Given the description of an element on the screen output the (x, y) to click on. 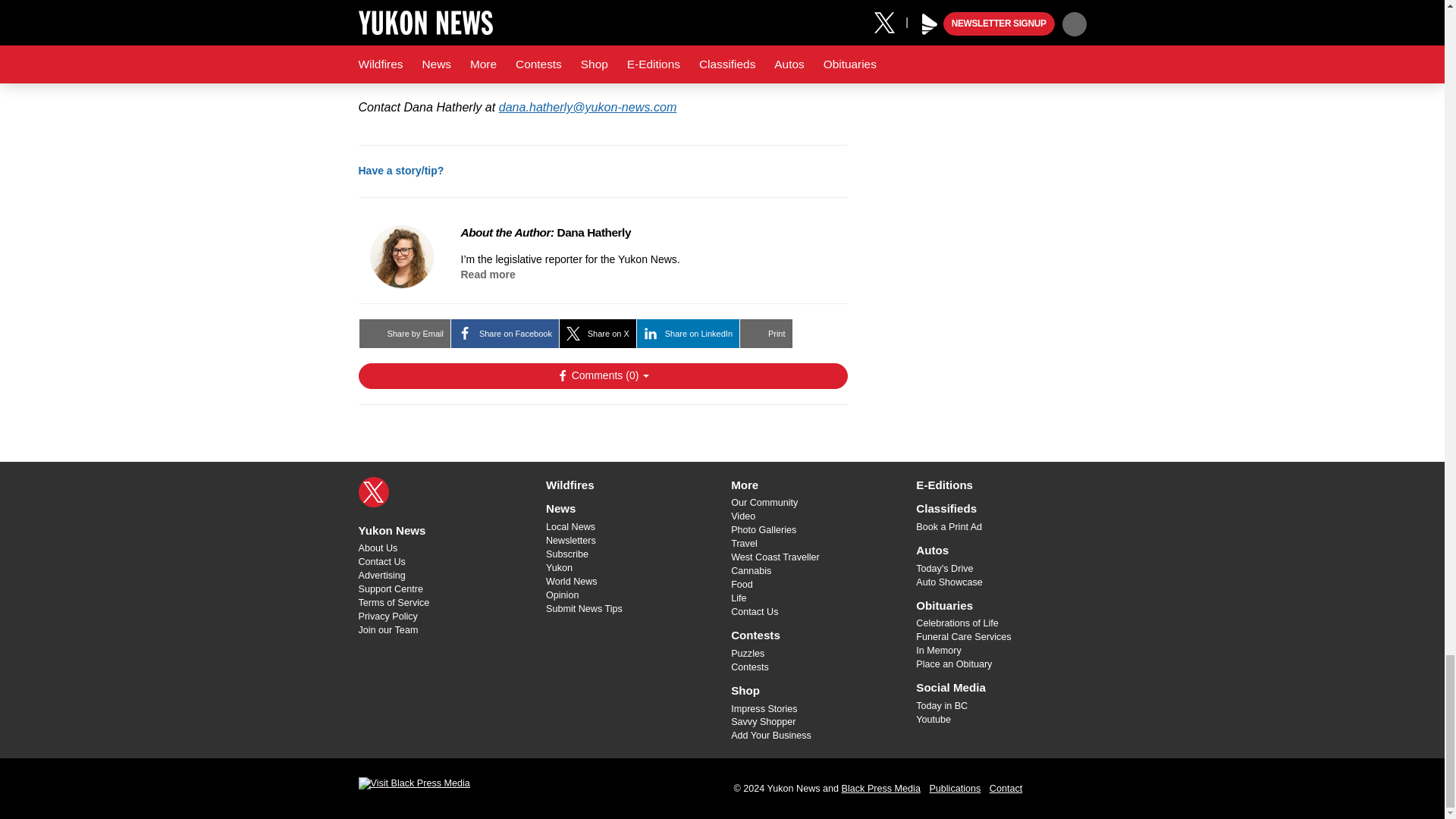
X (373, 491)
Show Comments (602, 376)
